Given the description of an element on the screen output the (x, y) to click on. 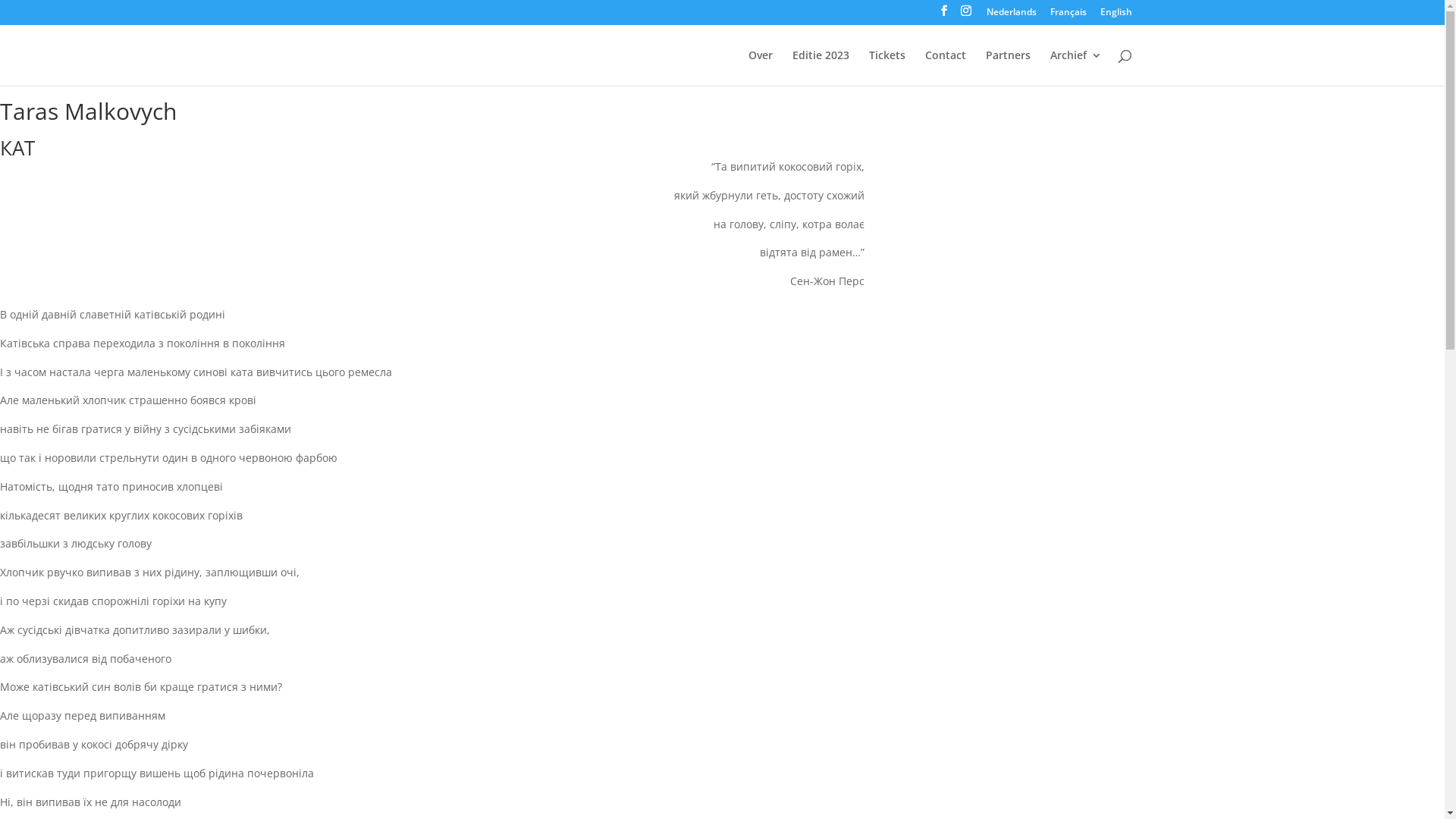
English Element type: text (1115, 15)
Editie 2023 Element type: text (819, 67)
Tickets Element type: text (887, 67)
Archief Element type: text (1075, 67)
Partners Element type: text (1007, 67)
Over Element type: text (759, 67)
Nederlands Element type: text (1010, 15)
Contact Element type: text (945, 67)
